Given the description of an element on the screen output the (x, y) to click on. 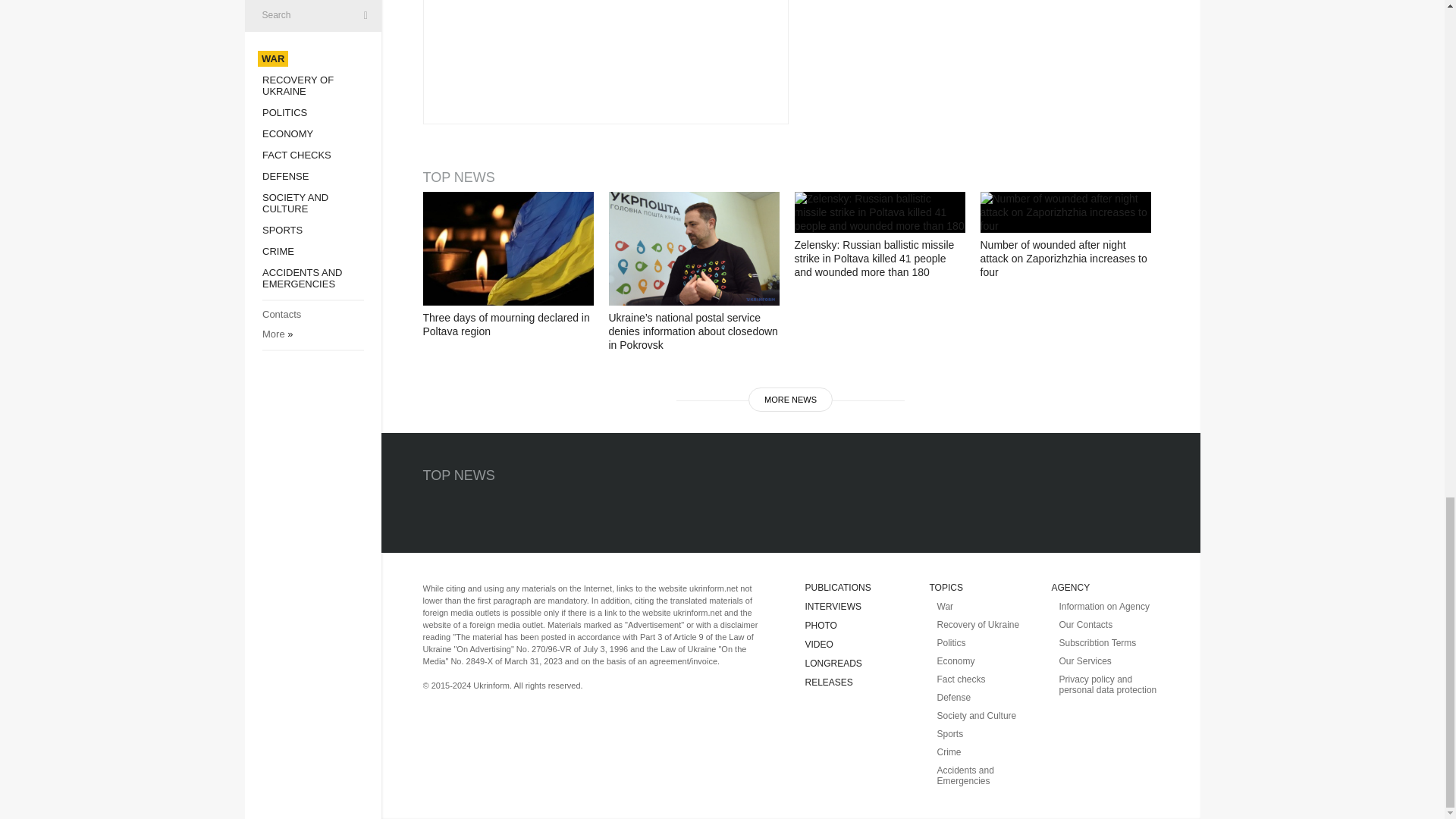
Three days of mourning declared in Poltava region (508, 248)
